Given the description of an element on the screen output the (x, y) to click on. 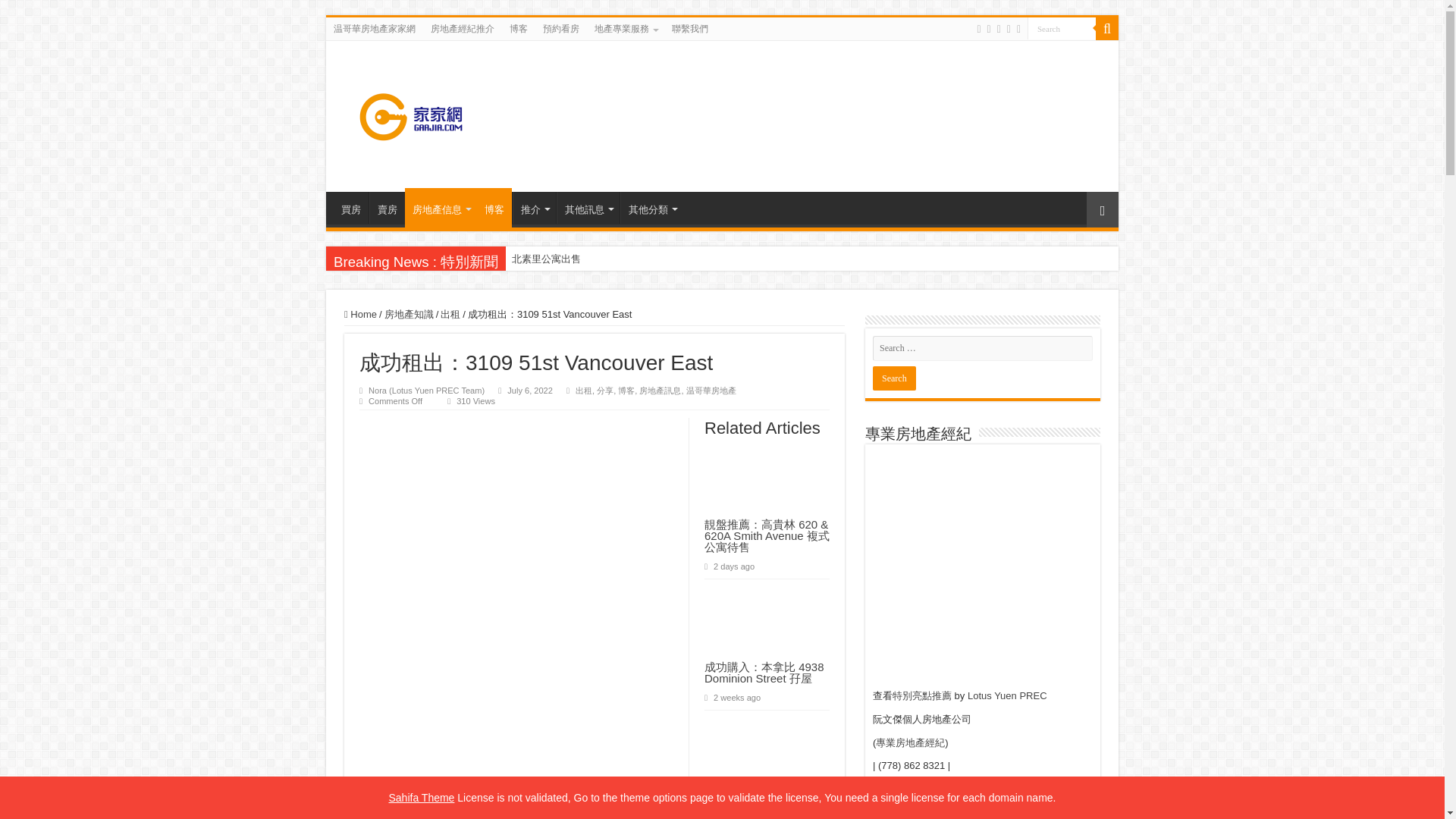
Random Article (1102, 209)
Search (1107, 28)
Search (893, 378)
Search (1061, 28)
Search (893, 378)
Search (1061, 28)
Search (1061, 28)
